Given the description of an element on the screen output the (x, y) to click on. 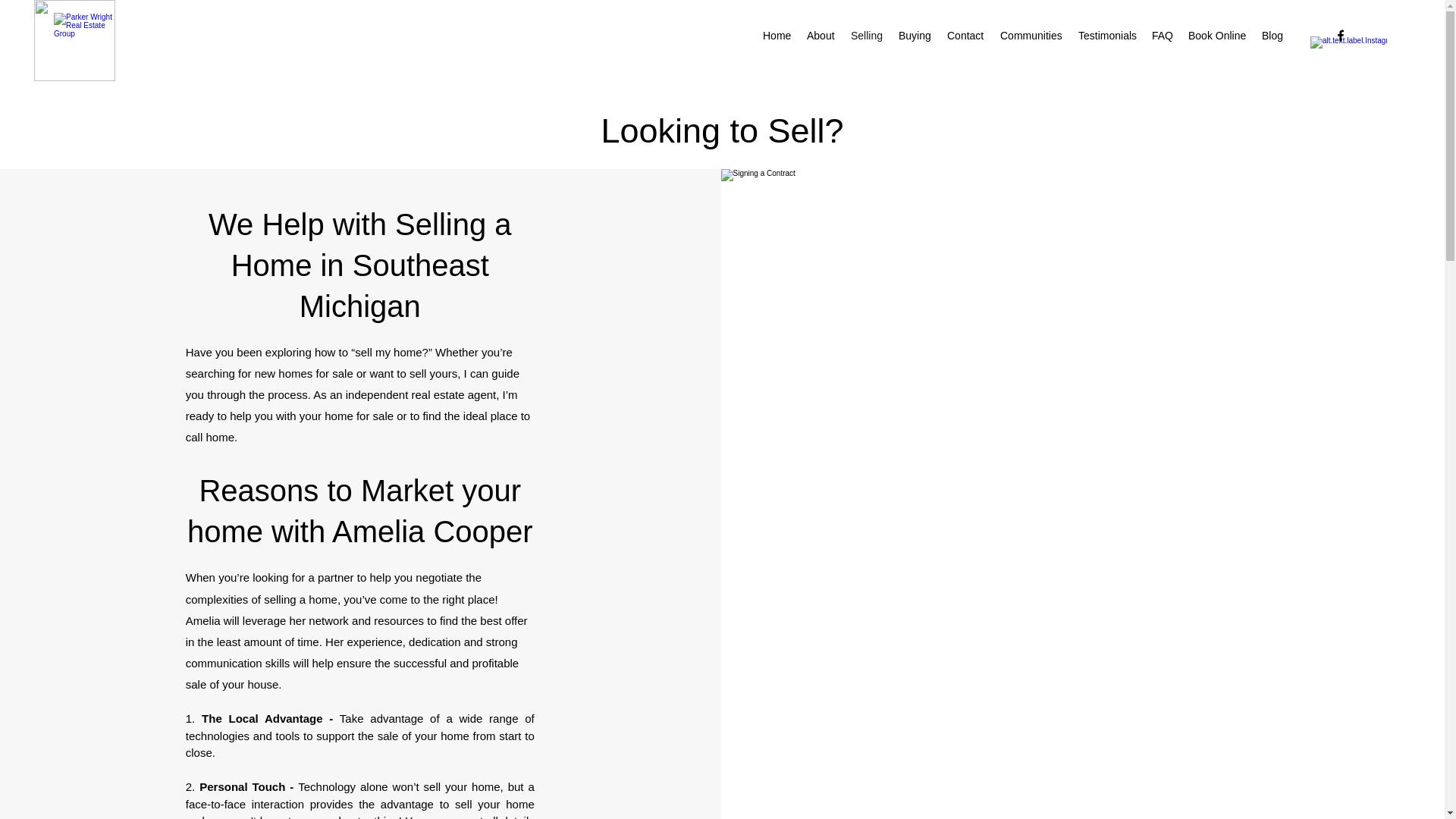
FAQ (1162, 35)
PW logo white.jpeg (85, 35)
Contact (965, 35)
Blog (1272, 35)
Buying (915, 35)
Book Online (1216, 35)
Testimonials (1107, 35)
Home (777, 35)
Selling (867, 35)
1.png (74, 40)
About (821, 35)
Communities (1031, 35)
